Given the description of an element on the screen output the (x, y) to click on. 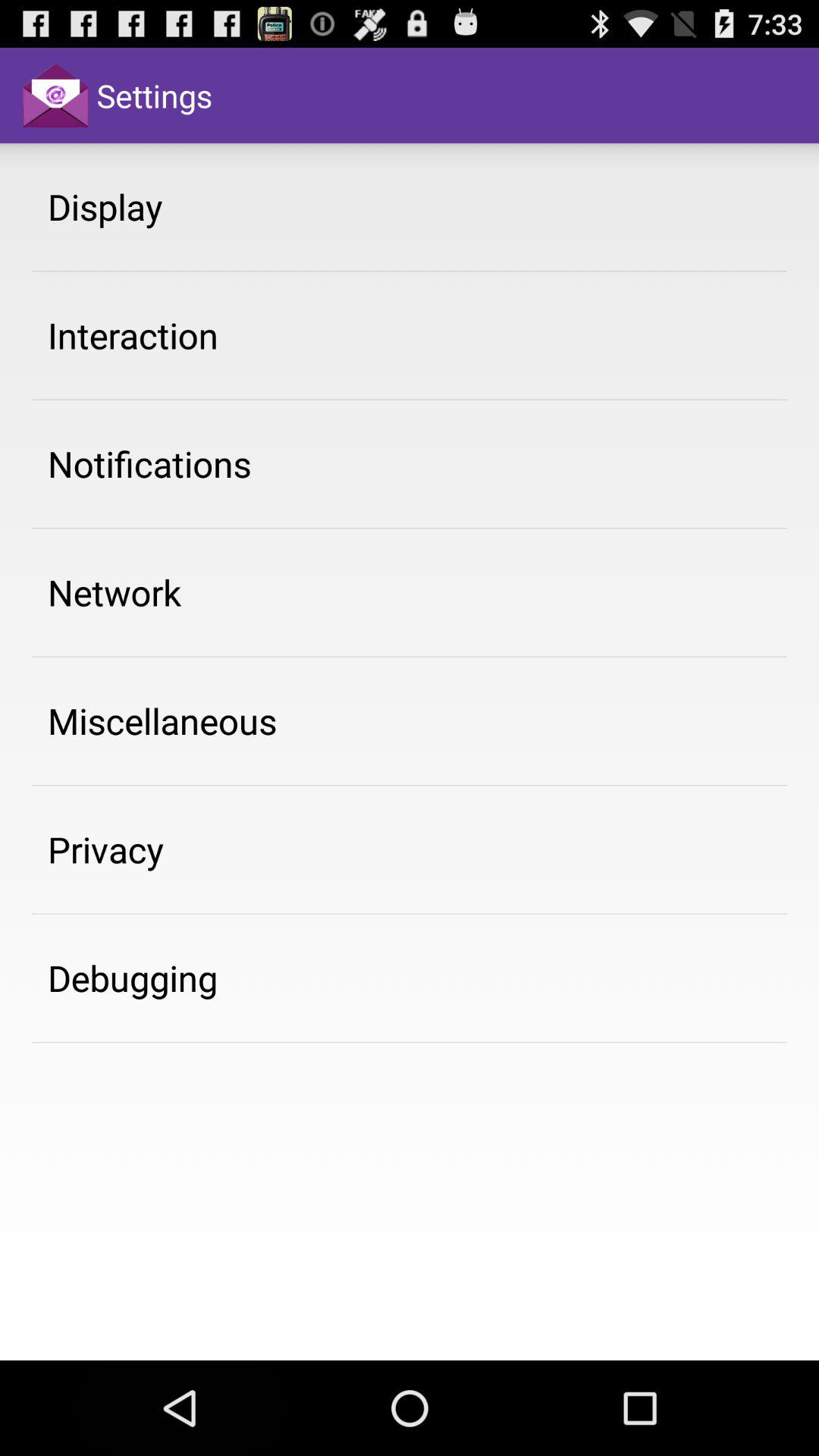
flip until interaction app (132, 335)
